Given the description of an element on the screen output the (x, y) to click on. 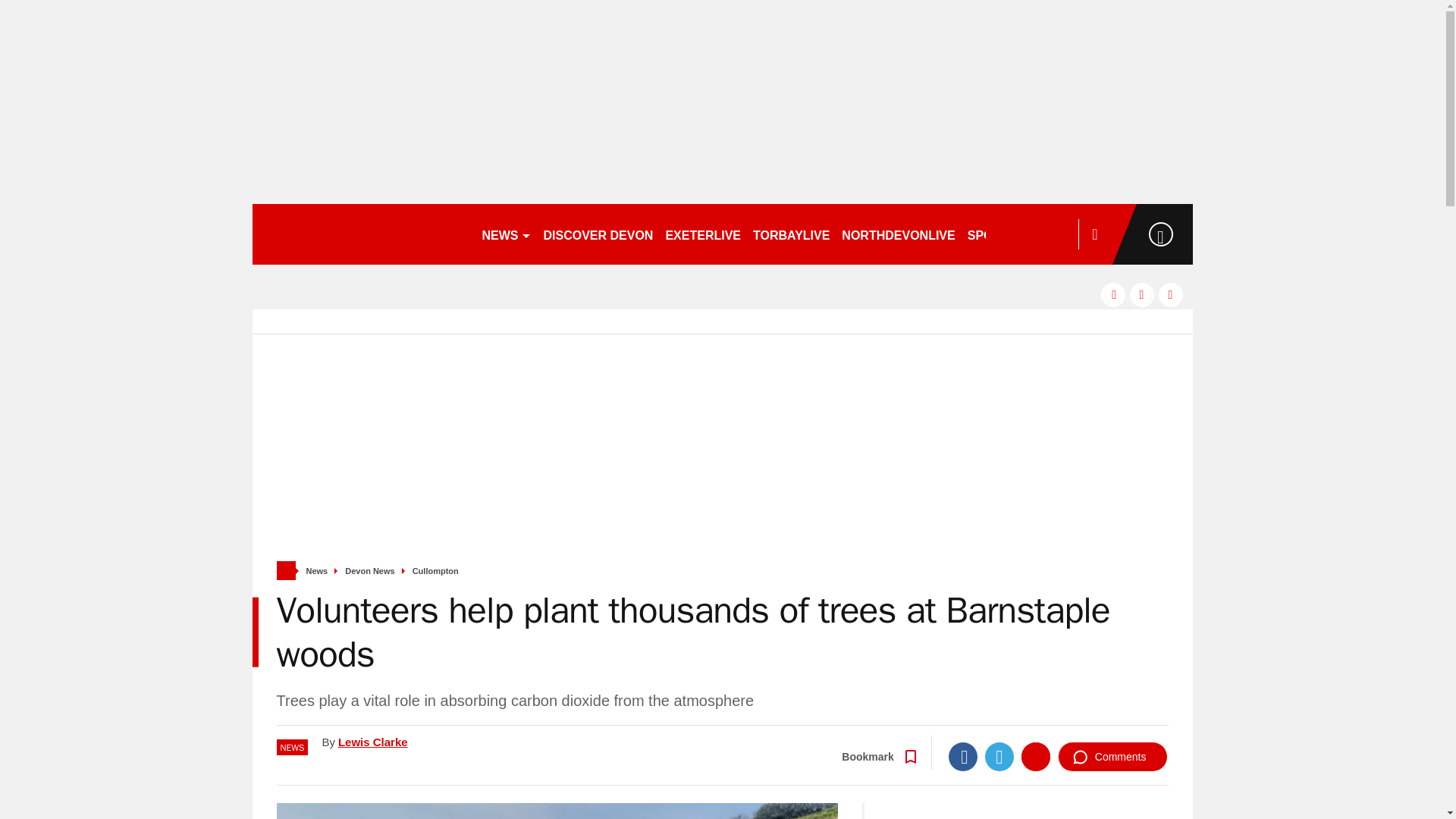
twitter (1141, 294)
facebook (1112, 294)
Facebook (962, 756)
Comments (1112, 756)
TORBAYLIVE (790, 233)
EXETERLIVE (702, 233)
Twitter (999, 756)
DISCOVER DEVON (598, 233)
NORTHDEVONLIVE (897, 233)
NEWS (506, 233)
